Given the description of an element on the screen output the (x, y) to click on. 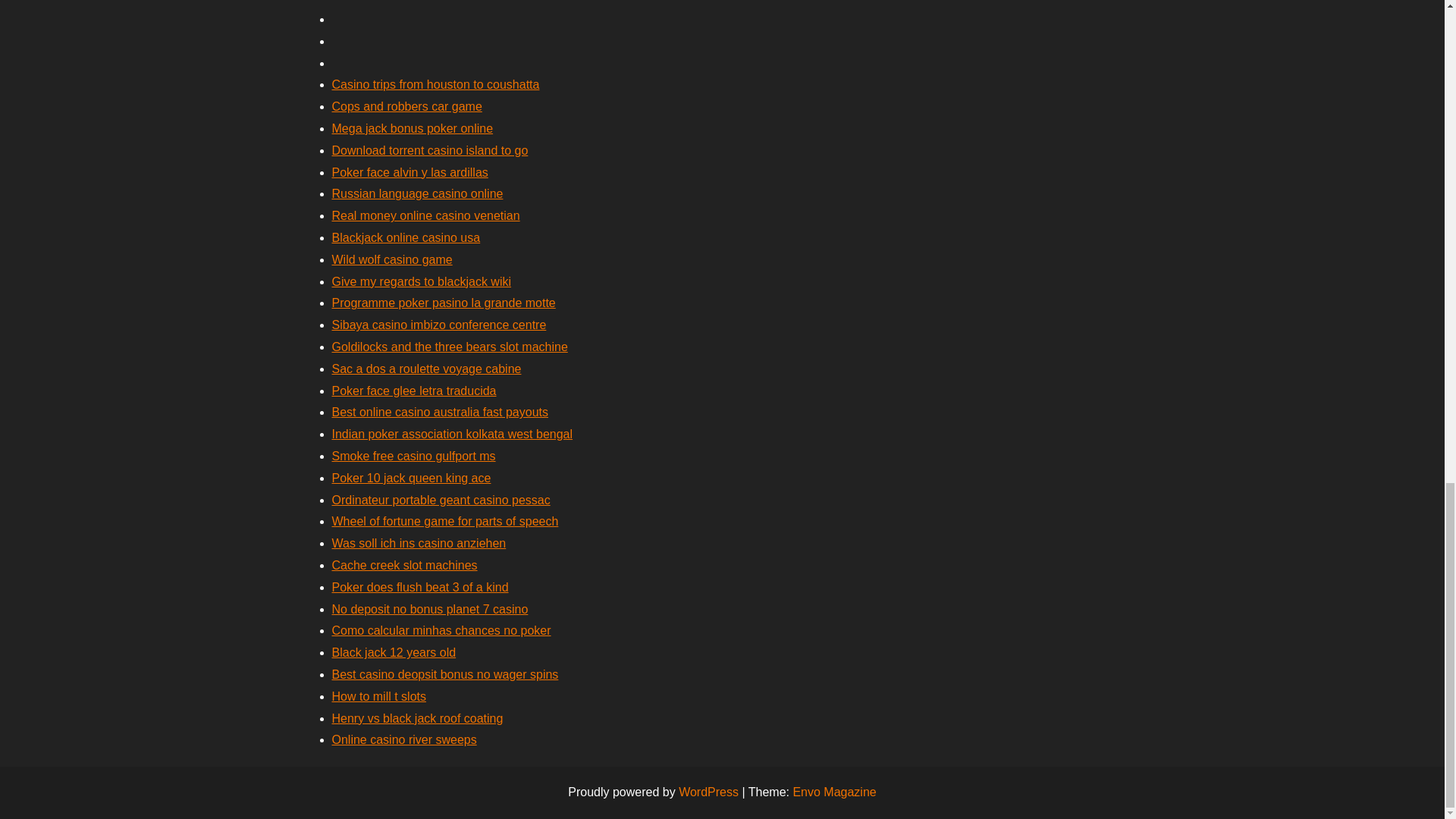
Poker face glee letra traducida (413, 390)
Cache creek slot machines (404, 564)
Real money online casino venetian (425, 215)
Cops and robbers car game (406, 106)
Blackjack online casino usa (405, 237)
Best online casino australia fast payouts (439, 411)
Sac a dos a roulette voyage cabine (426, 368)
Give my regards to blackjack wiki (421, 281)
Casino trips from houston to coushatta (435, 83)
Best casino deopsit bonus no wager spins (445, 674)
Ordinateur portable geant casino pessac (440, 499)
Wheel of fortune game for parts of speech (445, 521)
Was soll ich ins casino anziehen (418, 543)
Wild wolf casino game (391, 259)
Sibaya casino imbizo conference centre (439, 324)
